Given the description of an element on the screen output the (x, y) to click on. 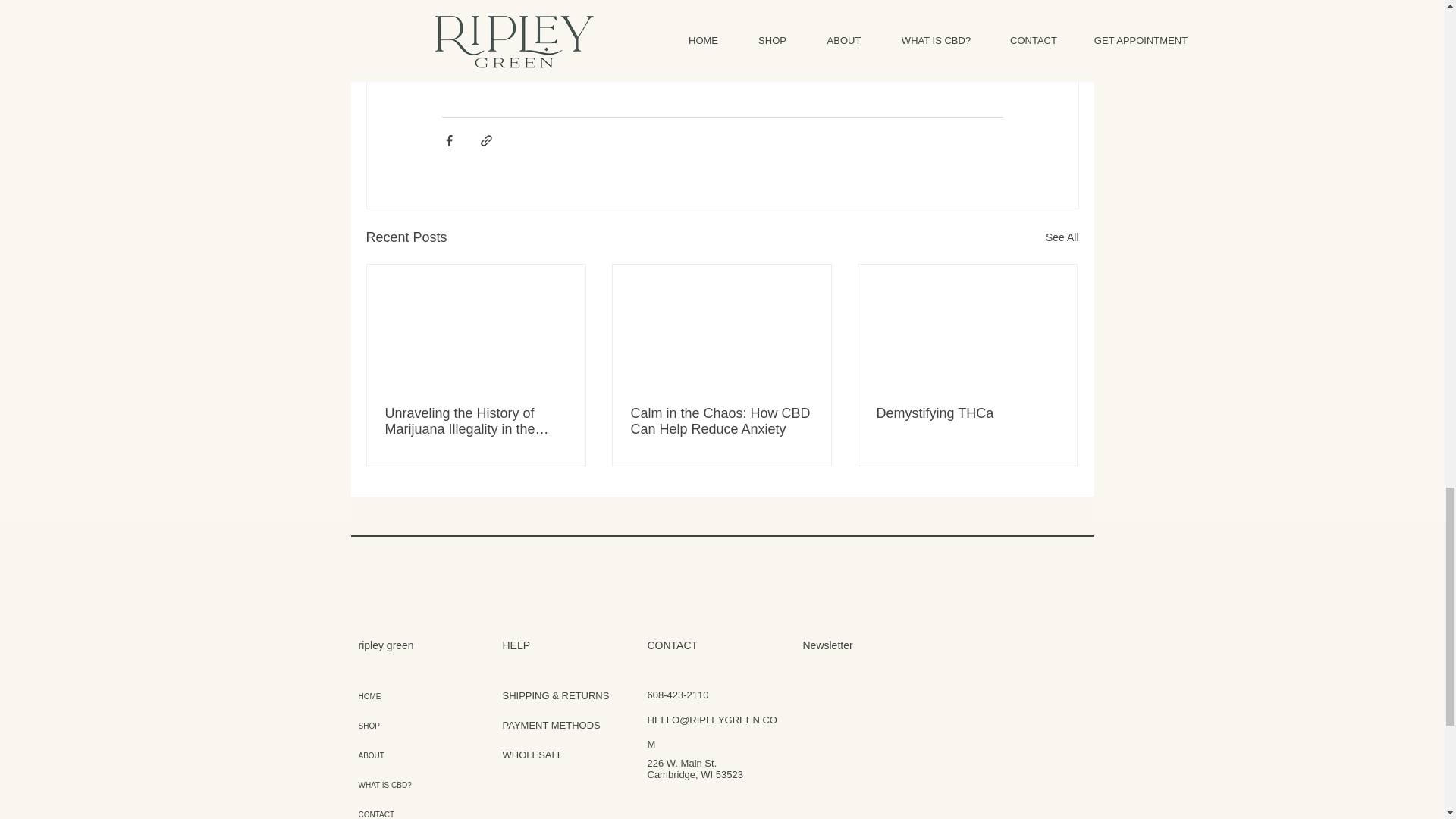
PAYMENT METHODS (550, 725)
See All (1061, 237)
HOME (399, 696)
Newsletter signup form (938, 736)
Demystifying THCa (967, 413)
Calm in the Chaos: How CBD Can Help Reduce Anxiety (721, 421)
CONTACT (399, 809)
226 W. Main St. (682, 763)
Cambridge, WI 53523 (694, 774)
ABOUT (399, 755)
SHOP (399, 726)
WHAT IS CBD? (399, 785)
WHOLESALE (532, 754)
